Given the description of an element on the screen output the (x, y) to click on. 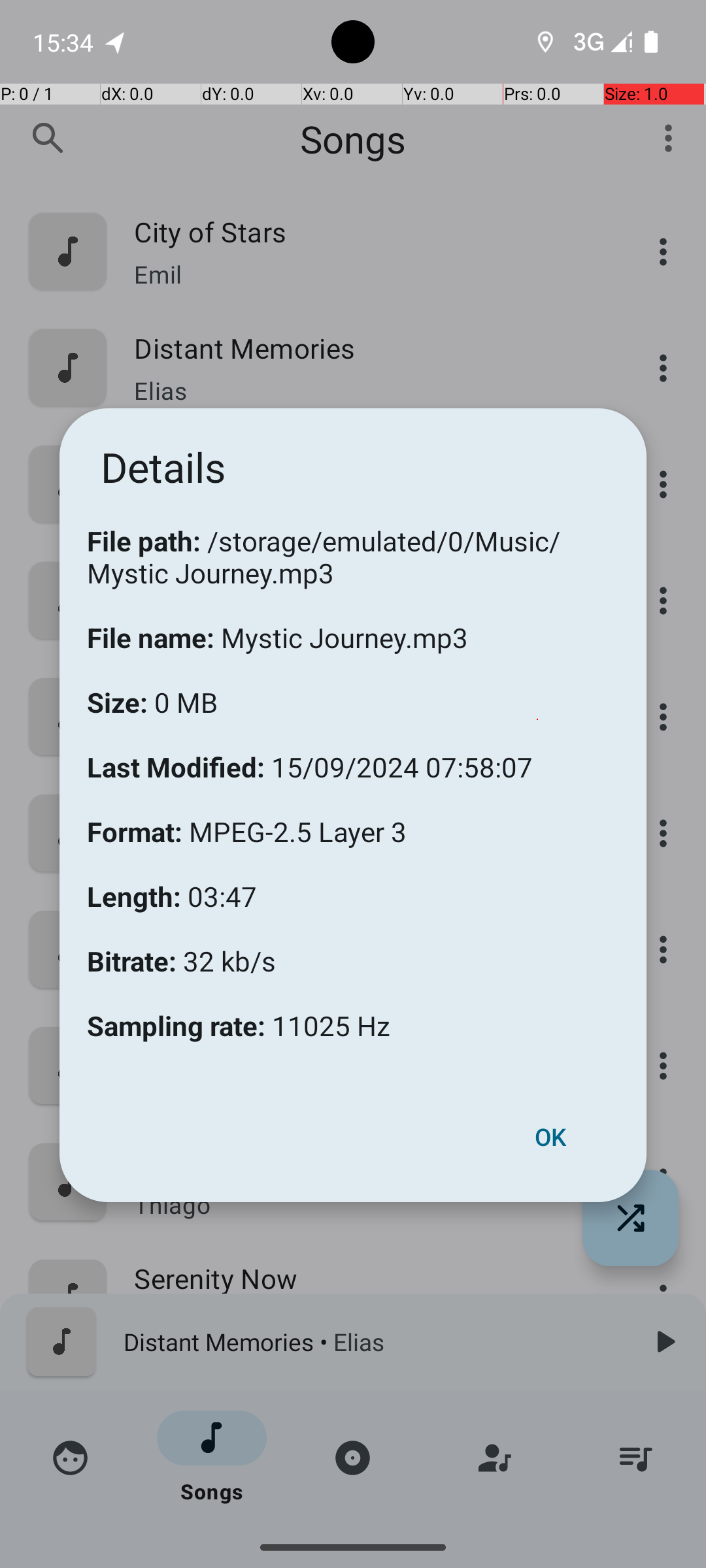
File path: /storage/emulated/0/Music/Mystic Journey.mp3 Element type: android.widget.TextView (352, 542)
File name: Mystic Journey.mp3 Element type: android.widget.TextView (277, 623)
Size: 0 MB Element type: android.widget.TextView (152, 687)
Last Modified: 15/09/2024 07:58:07 Element type: android.widget.TextView (309, 752)
Format: MPEG-2.5 Layer 3 Element type: android.widget.TextView (246, 817)
Length: 03:47 Element type: android.widget.TextView (171, 881)
Bitrate: 32 kb/s Element type: android.widget.TextView (181, 946)
Sampling rate: 11025 Hz Element type: android.widget.TextView (238, 1025)
